Given the description of an element on the screen output the (x, y) to click on. 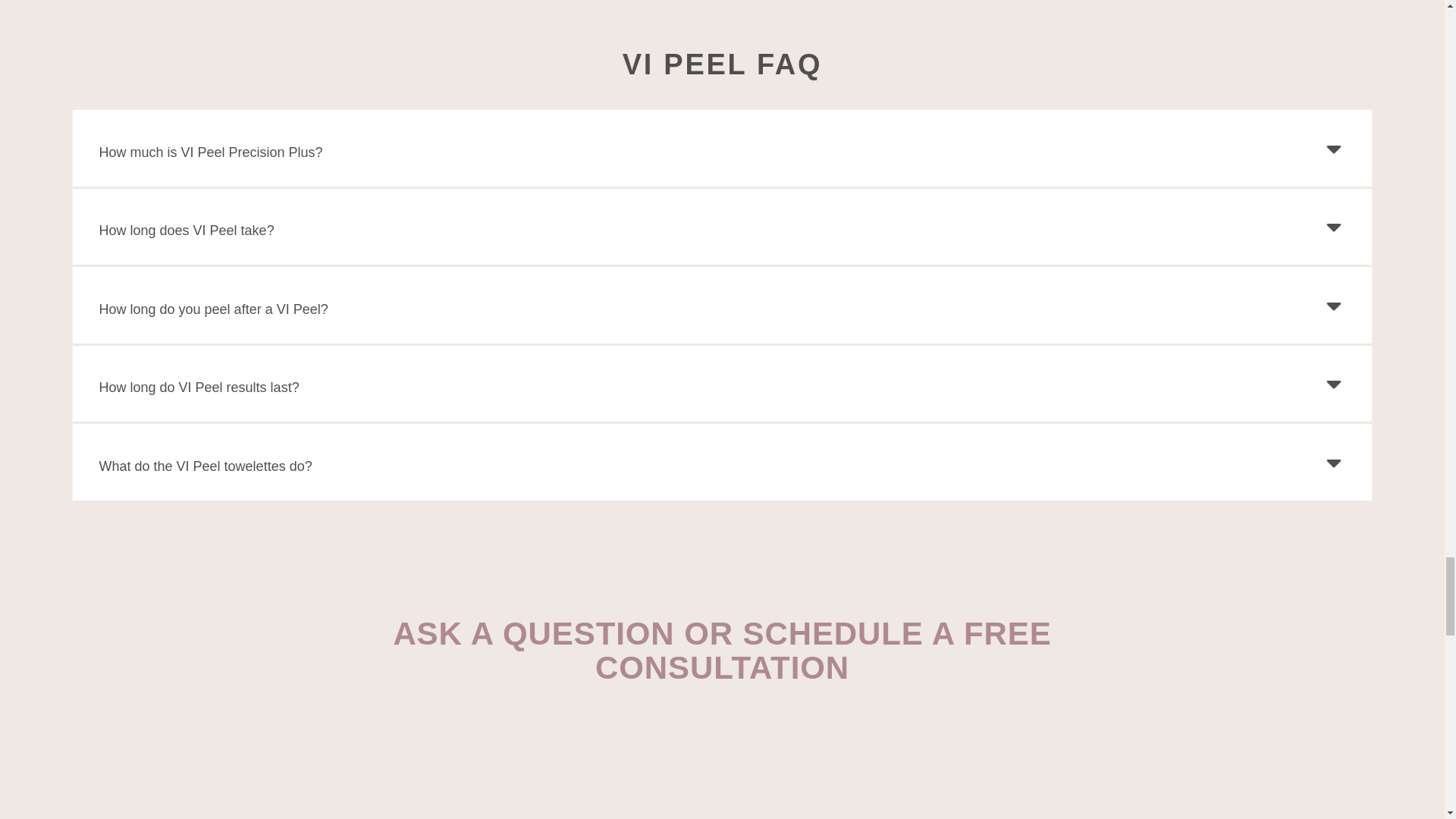
Review (721, 759)
